Given the description of an element on the screen output the (x, y) to click on. 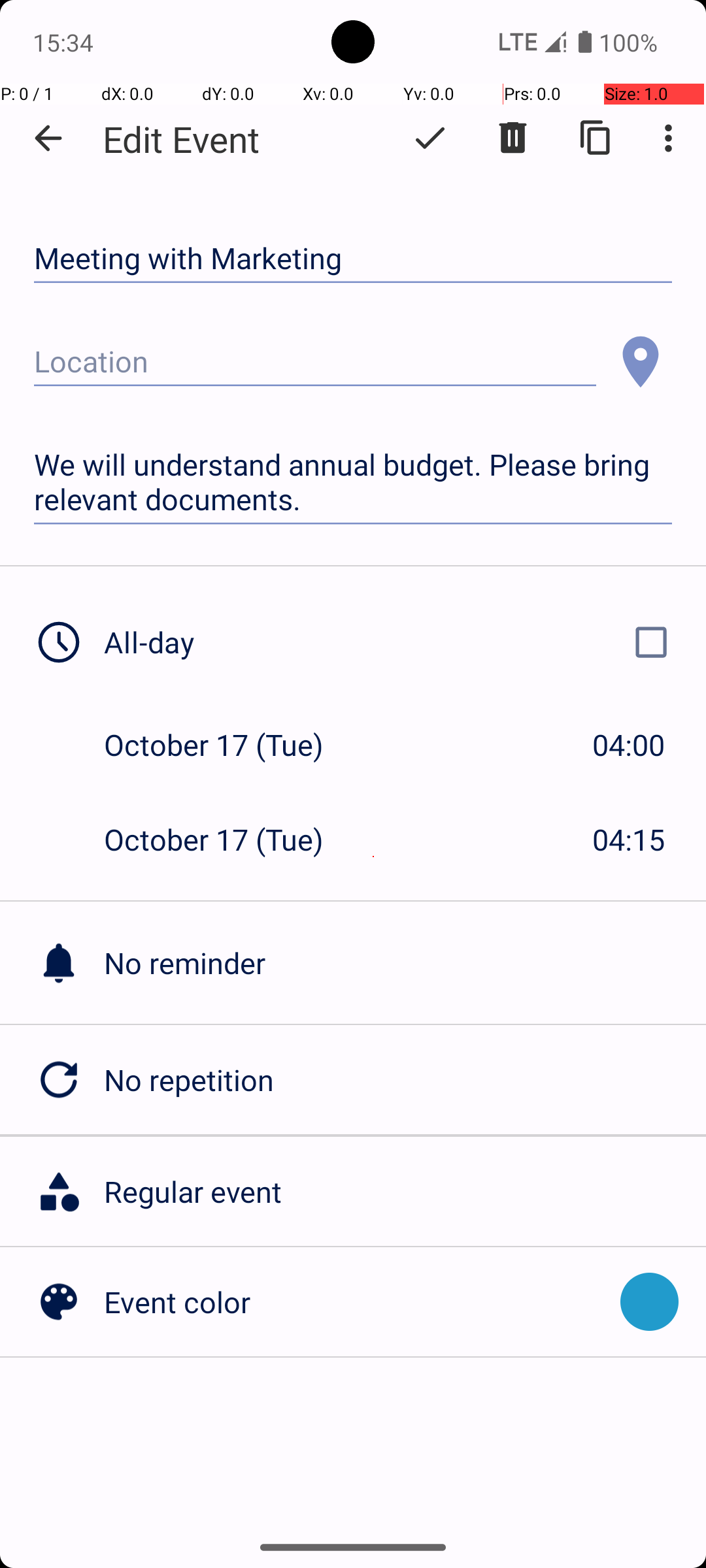
We will understand annual budget. Please bring relevant documents. Element type: android.widget.EditText (352, 482)
October 17 (Tue) Element type: android.widget.TextView (227, 744)
04:00 Element type: android.widget.TextView (628, 744)
04:15 Element type: android.widget.TextView (628, 838)
